Given the description of an element on the screen output the (x, y) to click on. 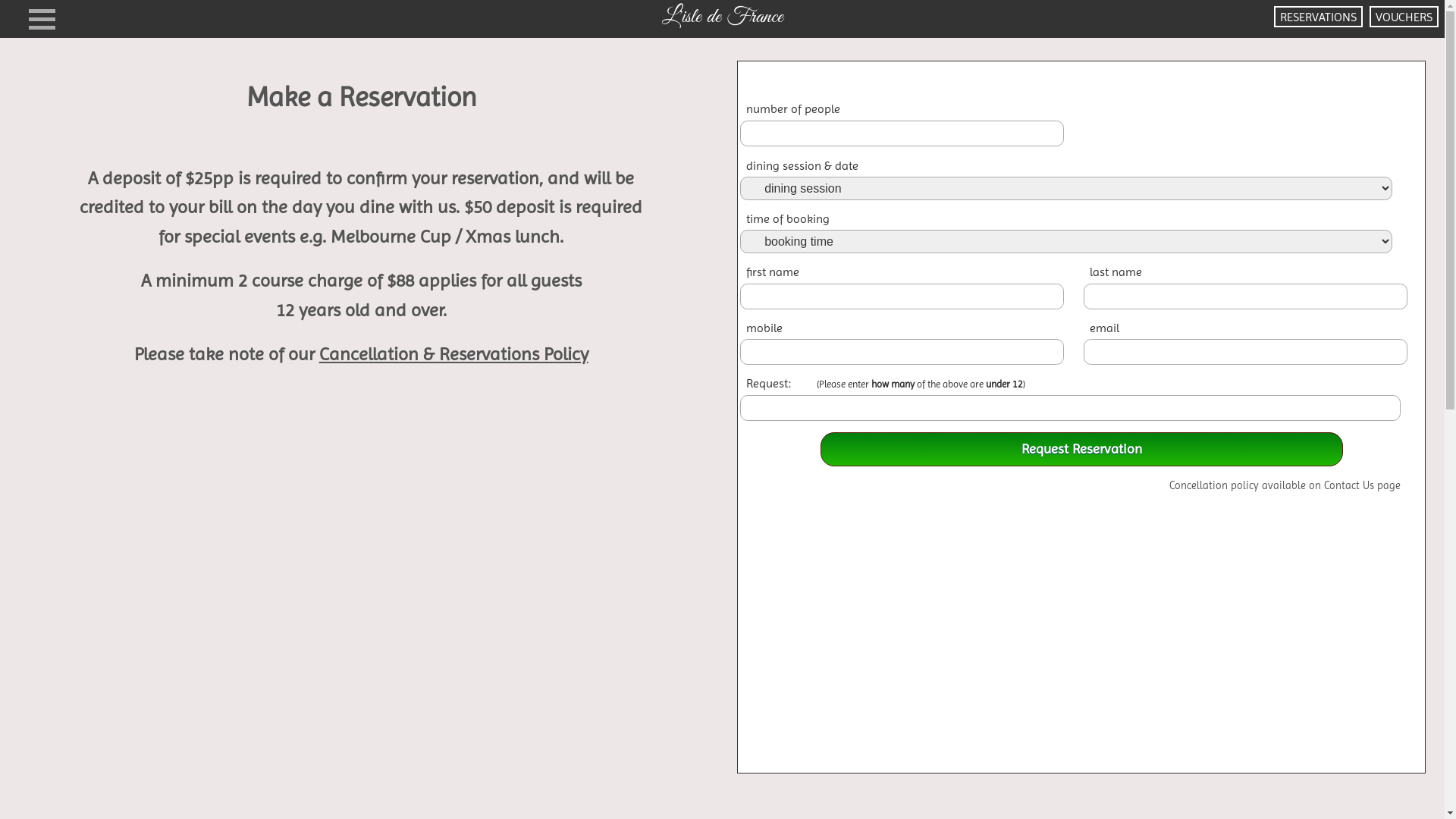
RESERVATIONS Element type: text (1318, 16)
VOUCHERS Element type: text (1403, 16)
Cancellation & Reservations Policy Element type: text (453, 353)
